Given the description of an element on the screen output the (x, y) to click on. 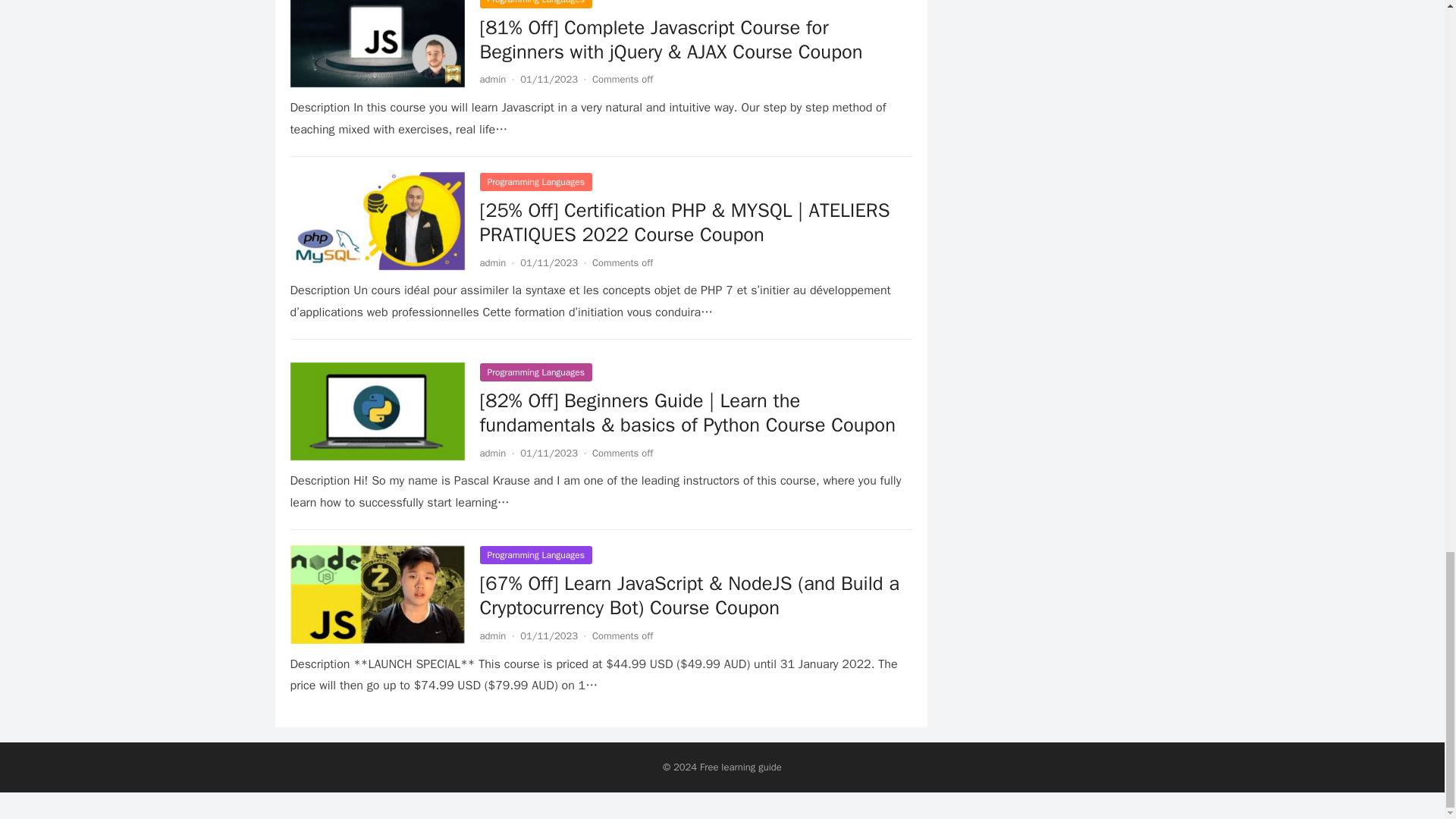
Programming Languages (535, 181)
Posts by admin (492, 635)
admin (492, 78)
Posts by admin (492, 262)
Posts by admin (492, 452)
Programming Languages (535, 4)
Posts by admin (492, 78)
